Given the description of an element on the screen output the (x, y) to click on. 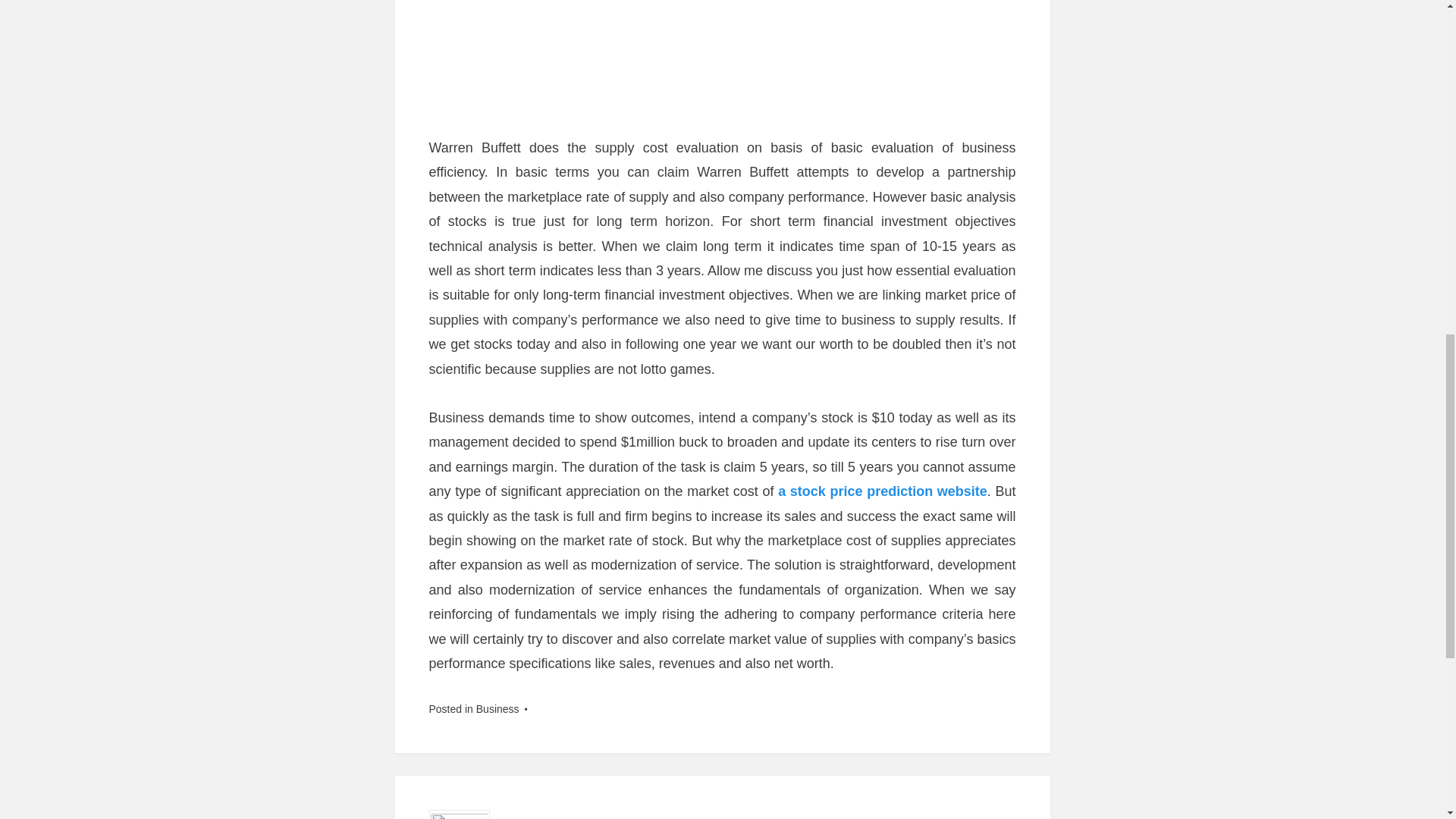
Business (497, 708)
a stock price prediction website (882, 491)
